Given the description of an element on the screen output the (x, y) to click on. 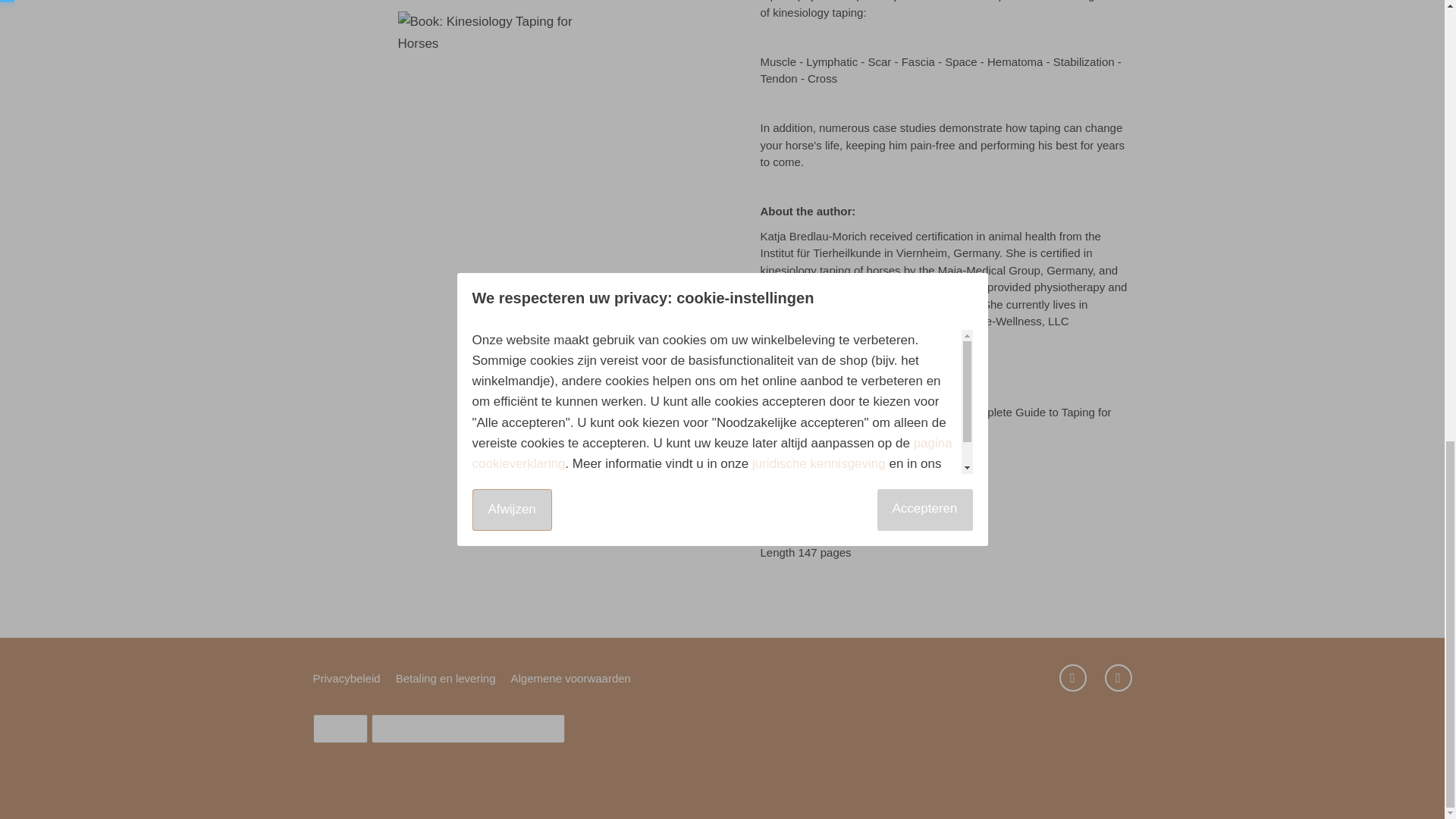
Algemene voorwaarden (570, 677)
Betaling en levering (446, 677)
Privacybeleid (346, 677)
